Given the description of an element on the screen output the (x, y) to click on. 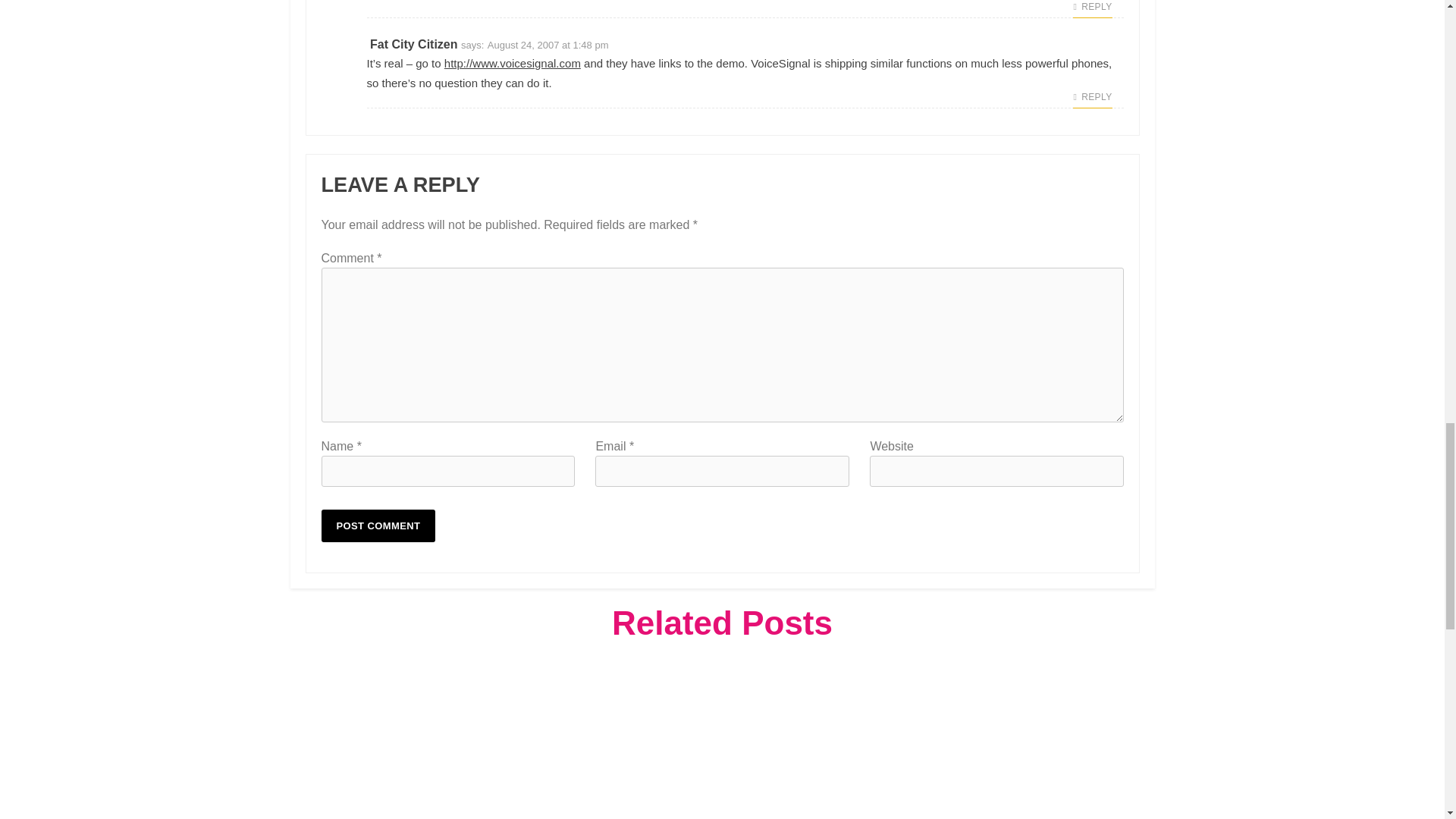
Post Comment (378, 525)
